Given the description of an element on the screen output the (x, y) to click on. 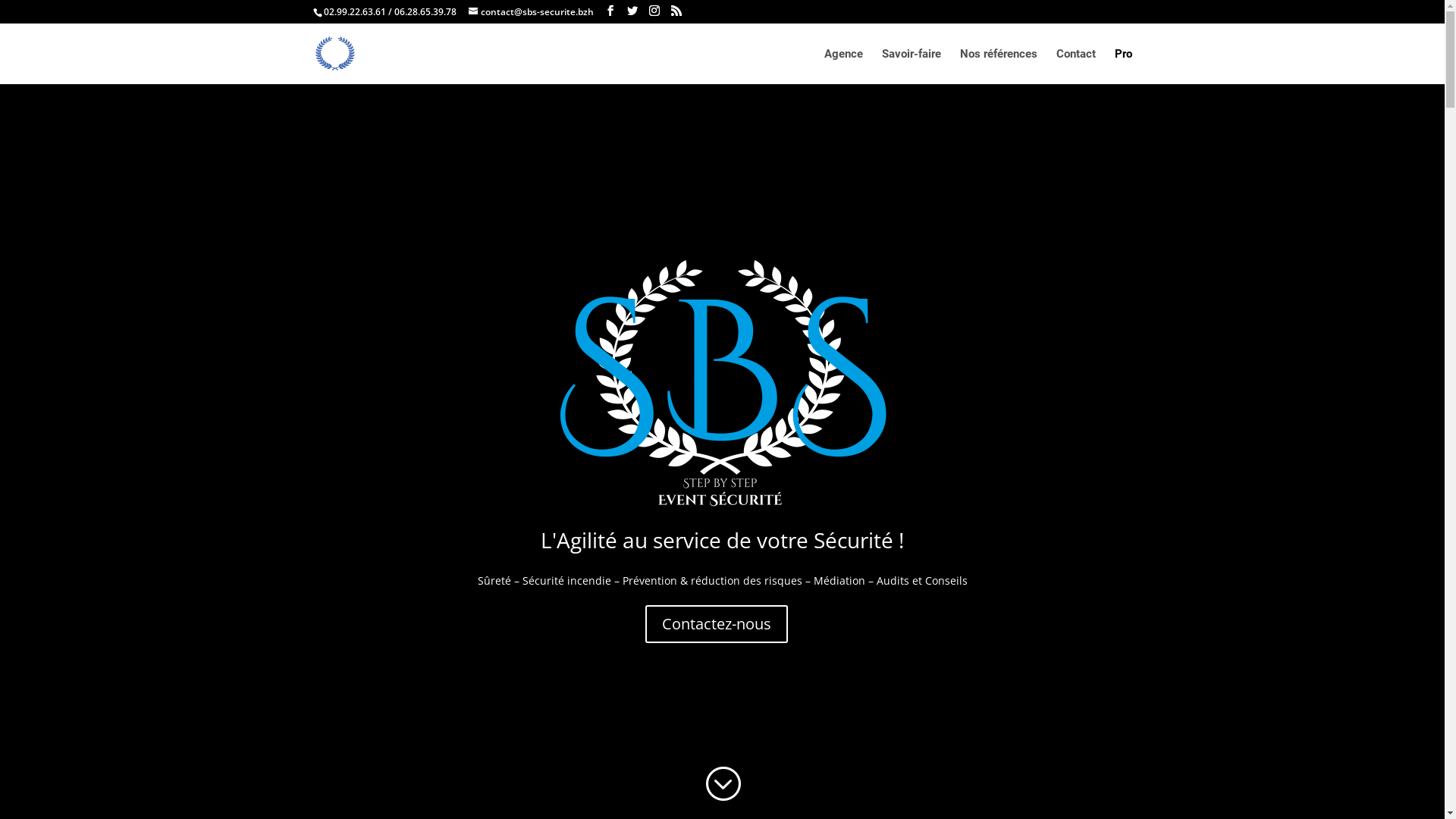
Pro Element type: text (1123, 66)
Contact Element type: text (1075, 66)
Agence Element type: text (842, 66)
contact@sbs-securite.bzh Element type: text (530, 11)
Contactez-nous Element type: text (716, 624)
; Element type: text (721, 783)
Savoir-faire Element type: text (910, 66)
